Given the description of an element on the screen output the (x, y) to click on. 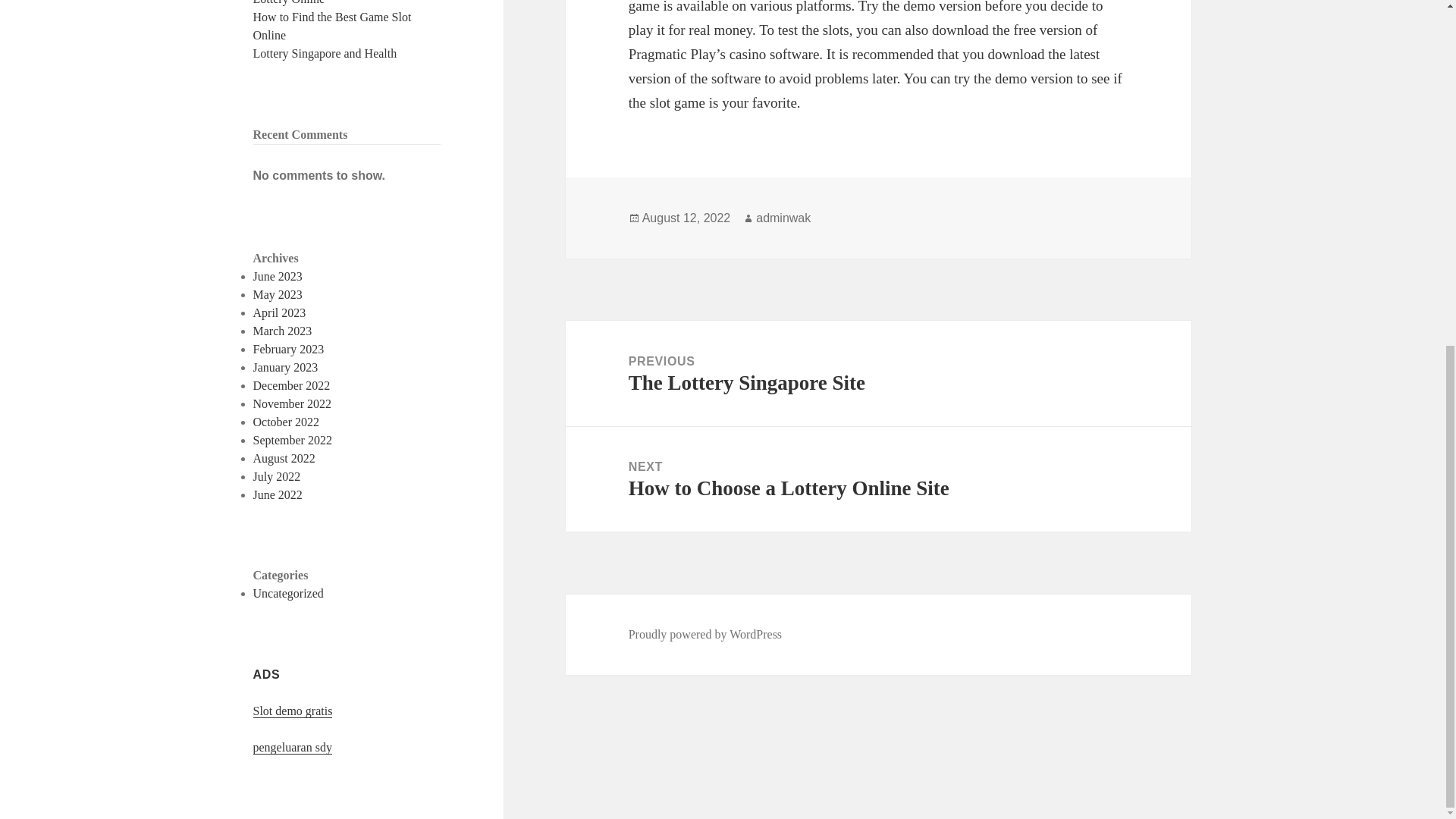
June 2022 (277, 494)
Uncategorized (288, 593)
June 2023 (277, 276)
Lottery Singapore and Health (325, 52)
November 2022 (292, 403)
January 2023 (285, 367)
adminwak (782, 218)
Lottery Online (288, 2)
September 2022 (878, 479)
August 12, 2022 (292, 440)
Proudly powered by WordPress (686, 218)
February 2023 (704, 634)
How to Find the Best Game Slot Online (288, 349)
March 2023 (332, 25)
